Given the description of an element on the screen output the (x, y) to click on. 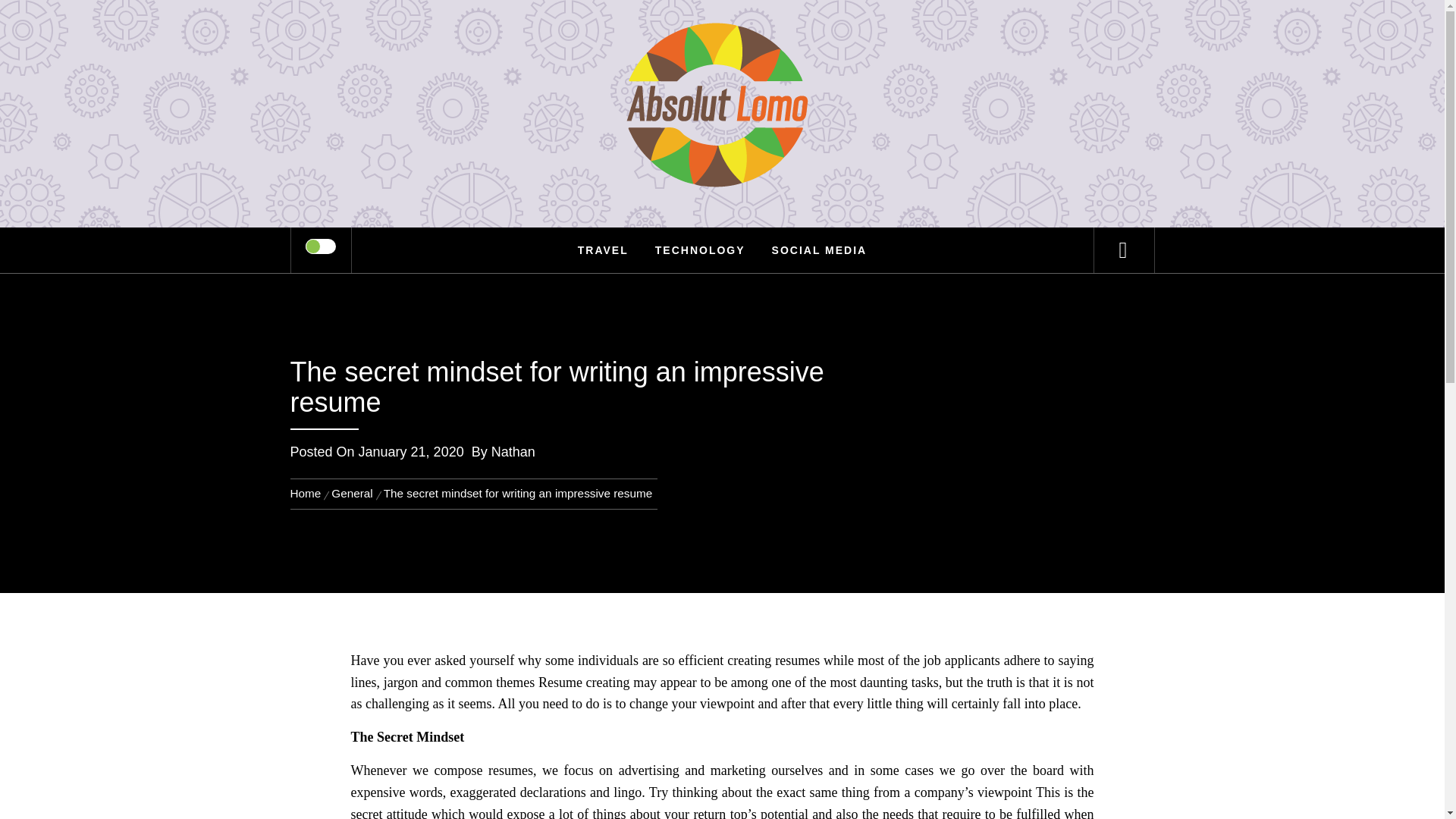
Nathan (513, 451)
ABSOLUT LOMO (721, 61)
SOCIAL MEDIA (819, 249)
Home (307, 492)
General (351, 492)
Search (797, 33)
TRAVEL (603, 249)
TECHNOLOGY (700, 249)
January 21, 2020 (411, 451)
